Given the description of an element on the screen output the (x, y) to click on. 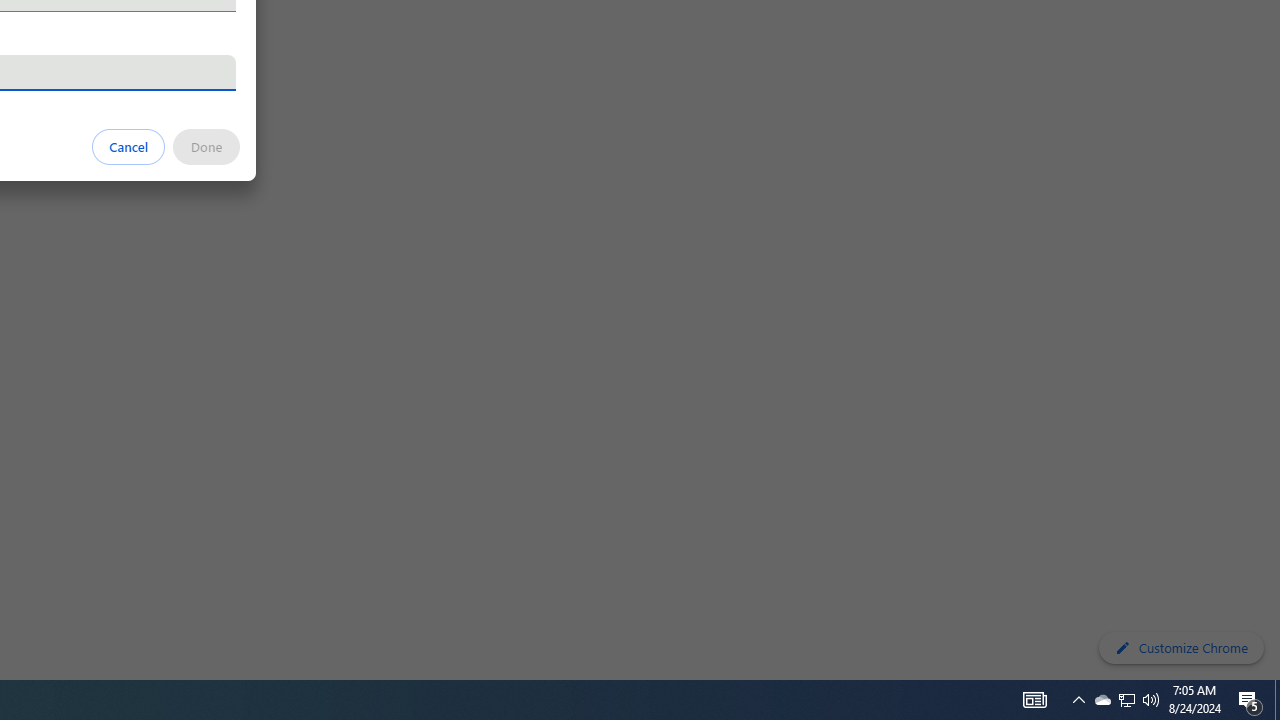
Cancel (129, 146)
Done (206, 146)
